Given the description of an element on the screen output the (x, y) to click on. 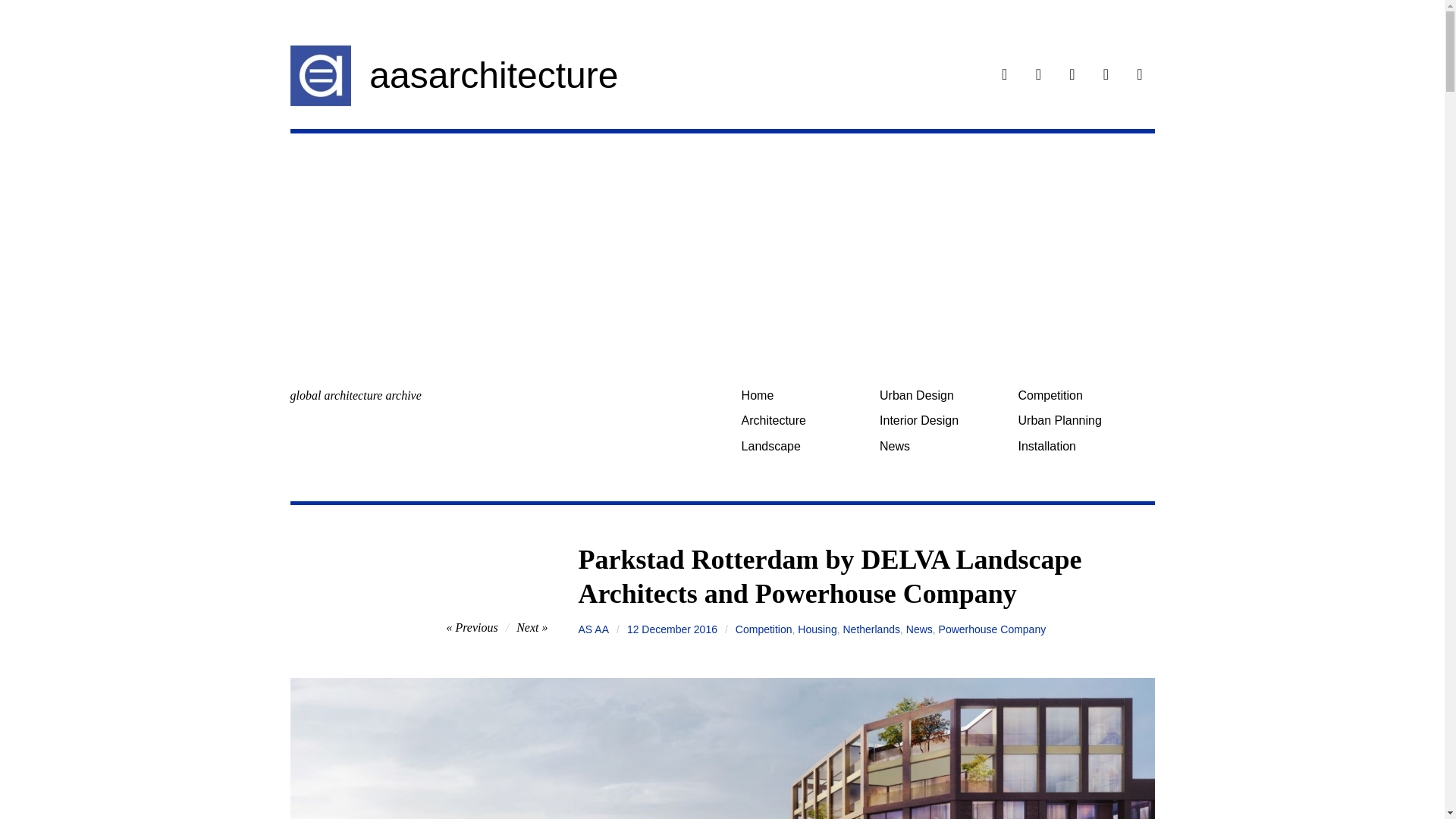
aasarchitecture (493, 75)
Netherlands (871, 629)
AS AA (593, 629)
Fadebook (1003, 75)
Installation (1080, 445)
Interior Design (942, 420)
Competition (763, 629)
Youtube (1138, 75)
12 December 2016 (672, 629)
Powerhouse Company (992, 629)
Previous (471, 626)
Instagram (1038, 75)
Housing (816, 629)
Home (804, 395)
Urban Design (942, 395)
